Given the description of an element on the screen output the (x, y) to click on. 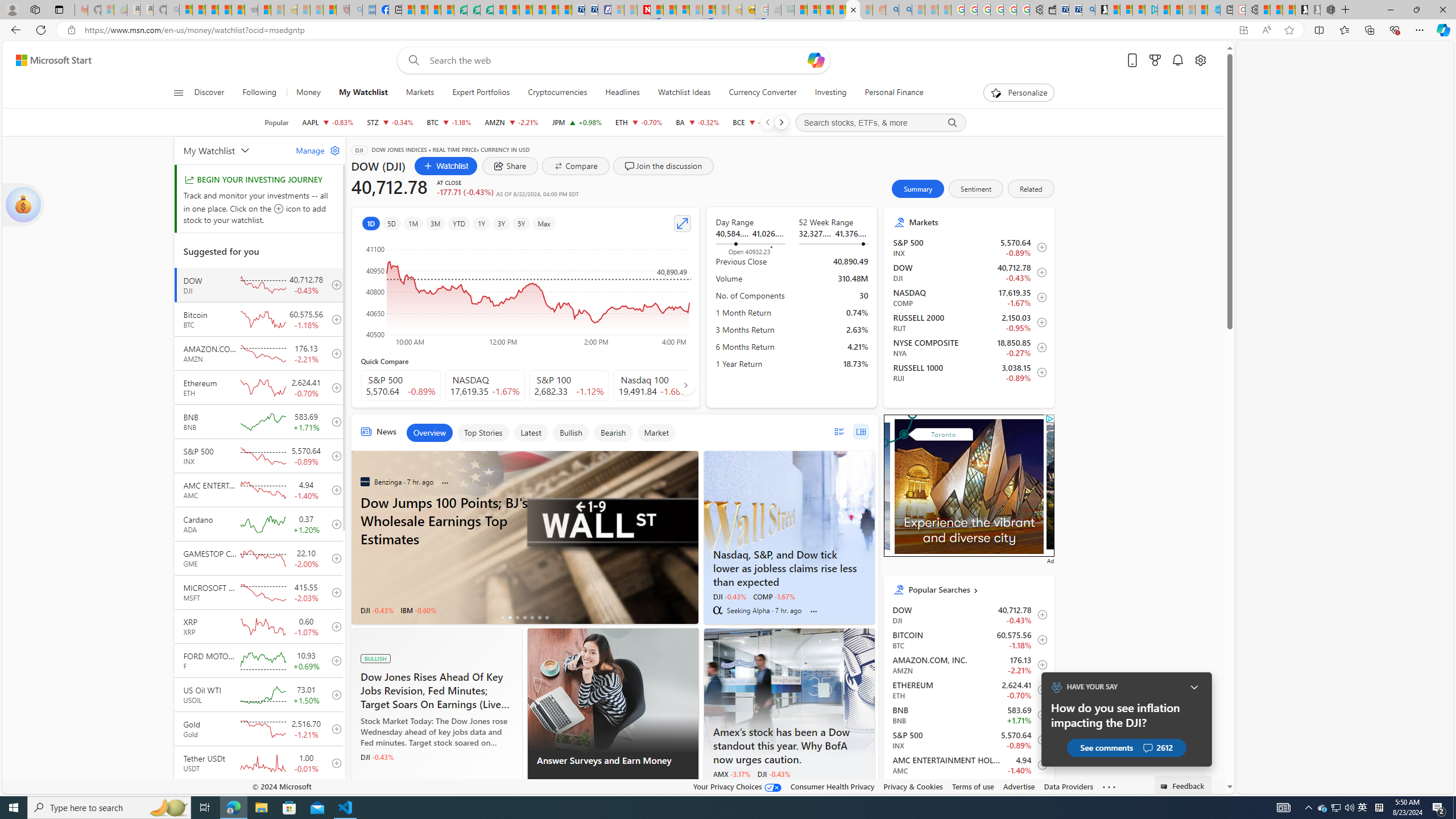
Bearish (612, 432)
3Y (501, 223)
Cryptocurrencies (557, 92)
Personal Finance (889, 92)
Class: feedback_link_icon-DS-EntryPoint1-1 (1165, 786)
ETH Ethereum decrease 2,624.41 -18.32 -0.70% (638, 122)
COMP NASDAQ decrease 17,619.35 -299.63 -1.67% itemundefined (969, 297)
